Given the description of an element on the screen output the (x, y) to click on. 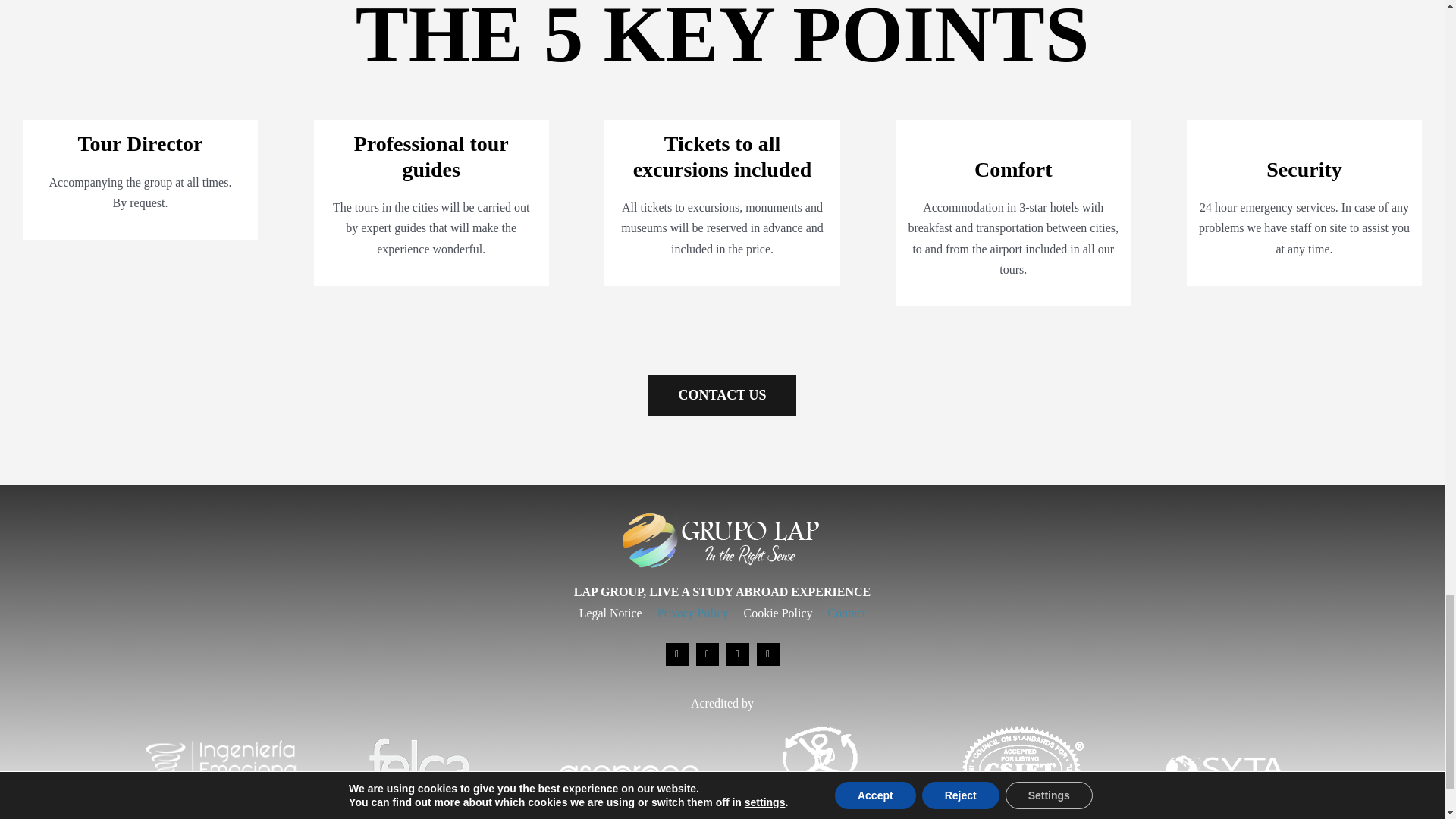
Instagram (707, 653)
Grupo LAP (721, 540)
Facebook (676, 653)
Email (737, 653)
